Given the description of an element on the screen output the (x, y) to click on. 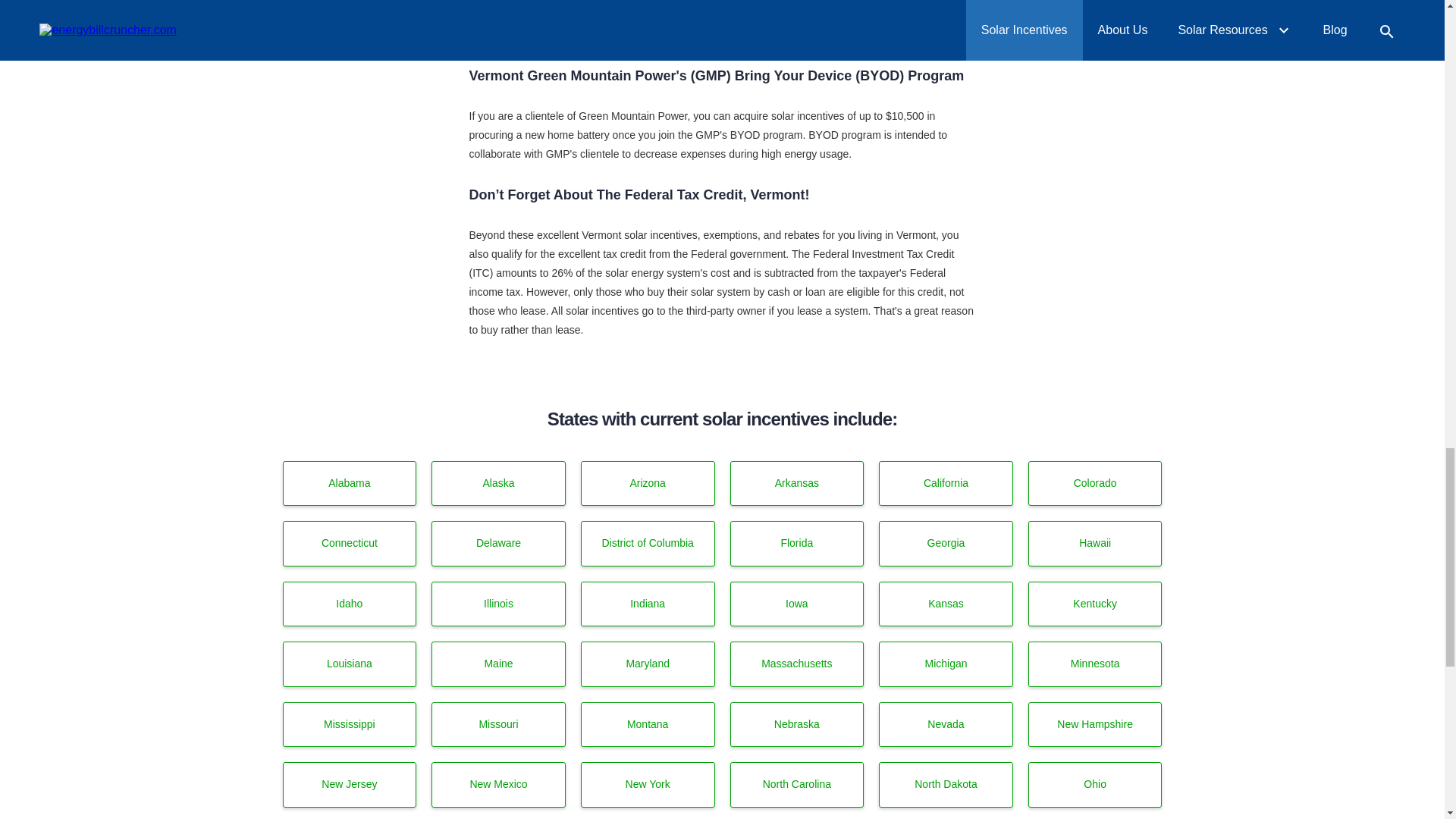
Michigan (946, 664)
Alabama (349, 483)
Florida (796, 543)
Idaho (349, 604)
Kansas (946, 604)
Iowa (796, 604)
Kentucky (1094, 604)
Georgia (946, 543)
Hawaii (1094, 543)
Colorado (1094, 483)
Maryland (647, 664)
Missouri (498, 724)
Indiana (647, 604)
Arkansas (796, 483)
Louisiana (349, 664)
